Given the description of an element on the screen output the (x, y) to click on. 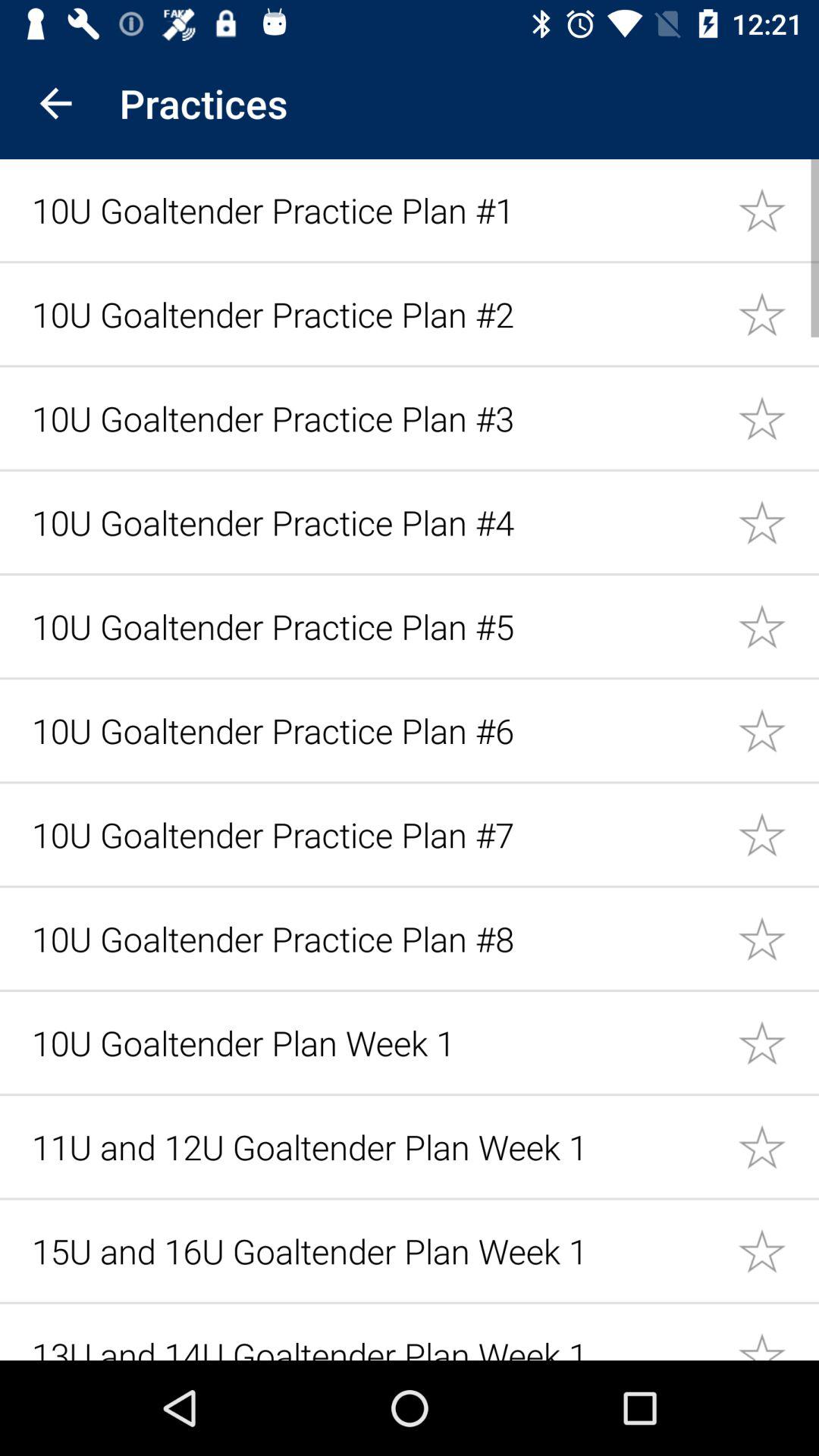
press the favorite icon (778, 313)
